Given the description of an element on the screen output the (x, y) to click on. 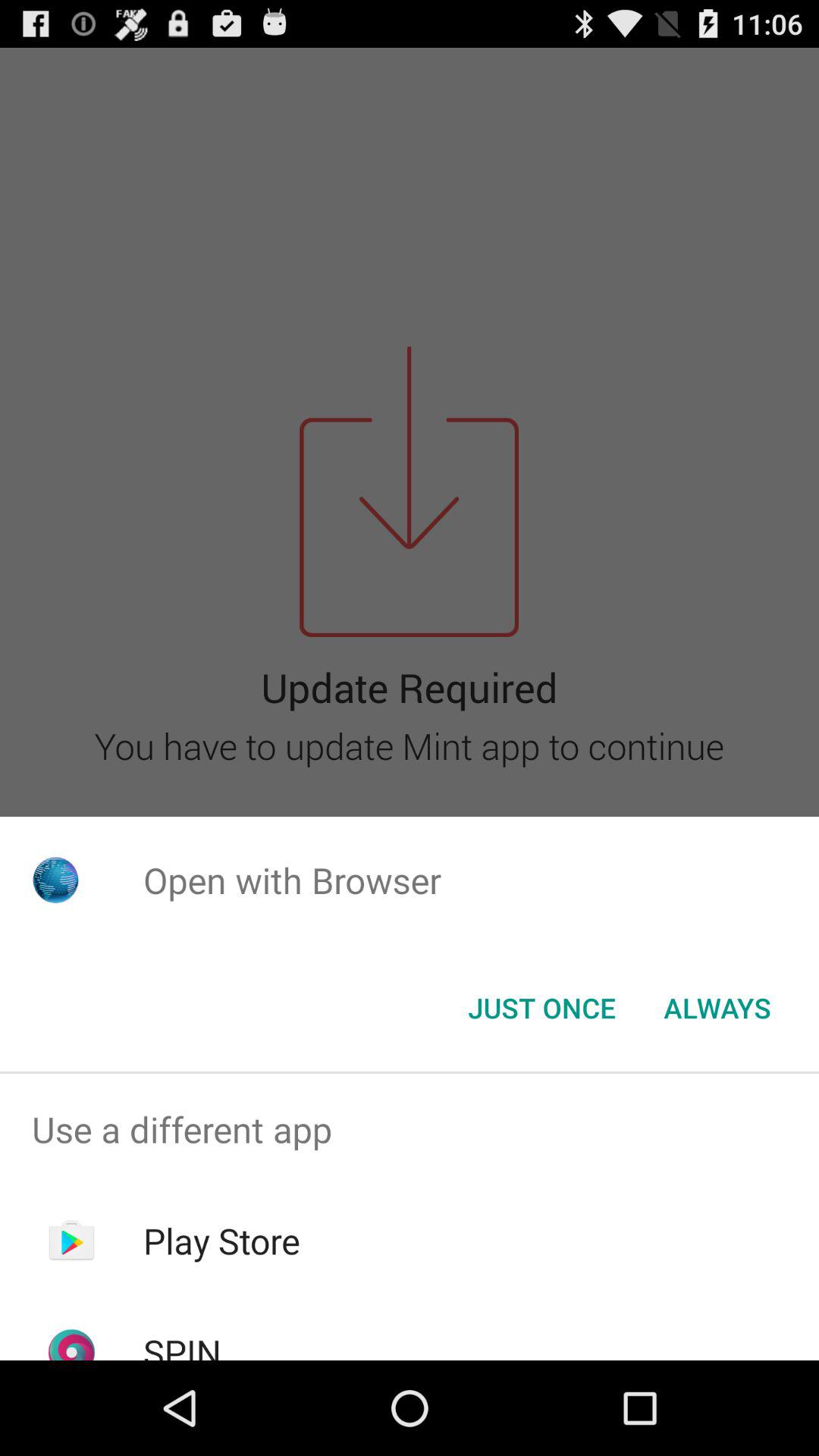
click the spin icon (182, 1344)
